Given the description of an element on the screen output the (x, y) to click on. 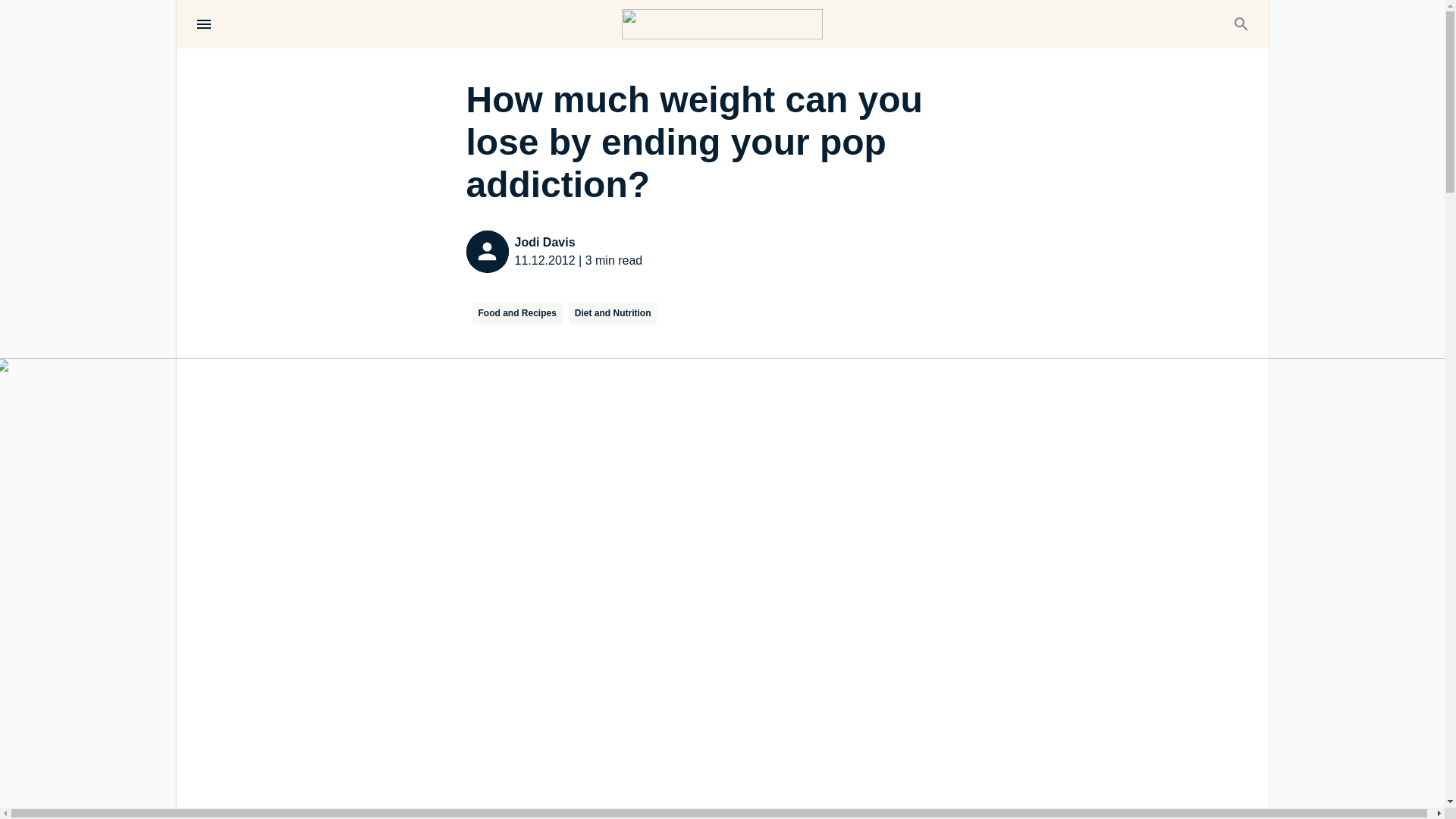
Jodi Davis (577, 242)
Food and Recipes (516, 313)
Diet and Nutrition (613, 313)
